Given the description of an element on the screen output the (x, y) to click on. 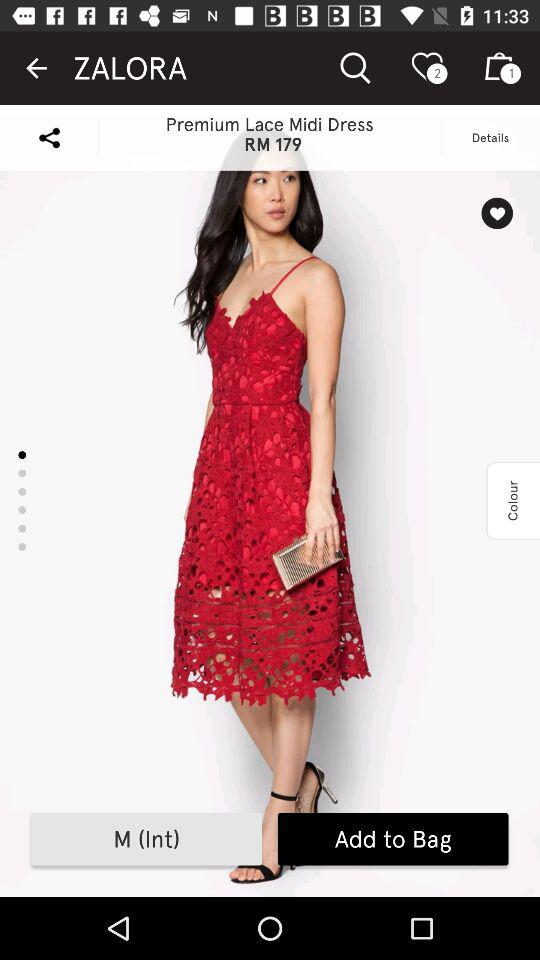
scroll to details (490, 137)
